Given the description of an element on the screen output the (x, y) to click on. 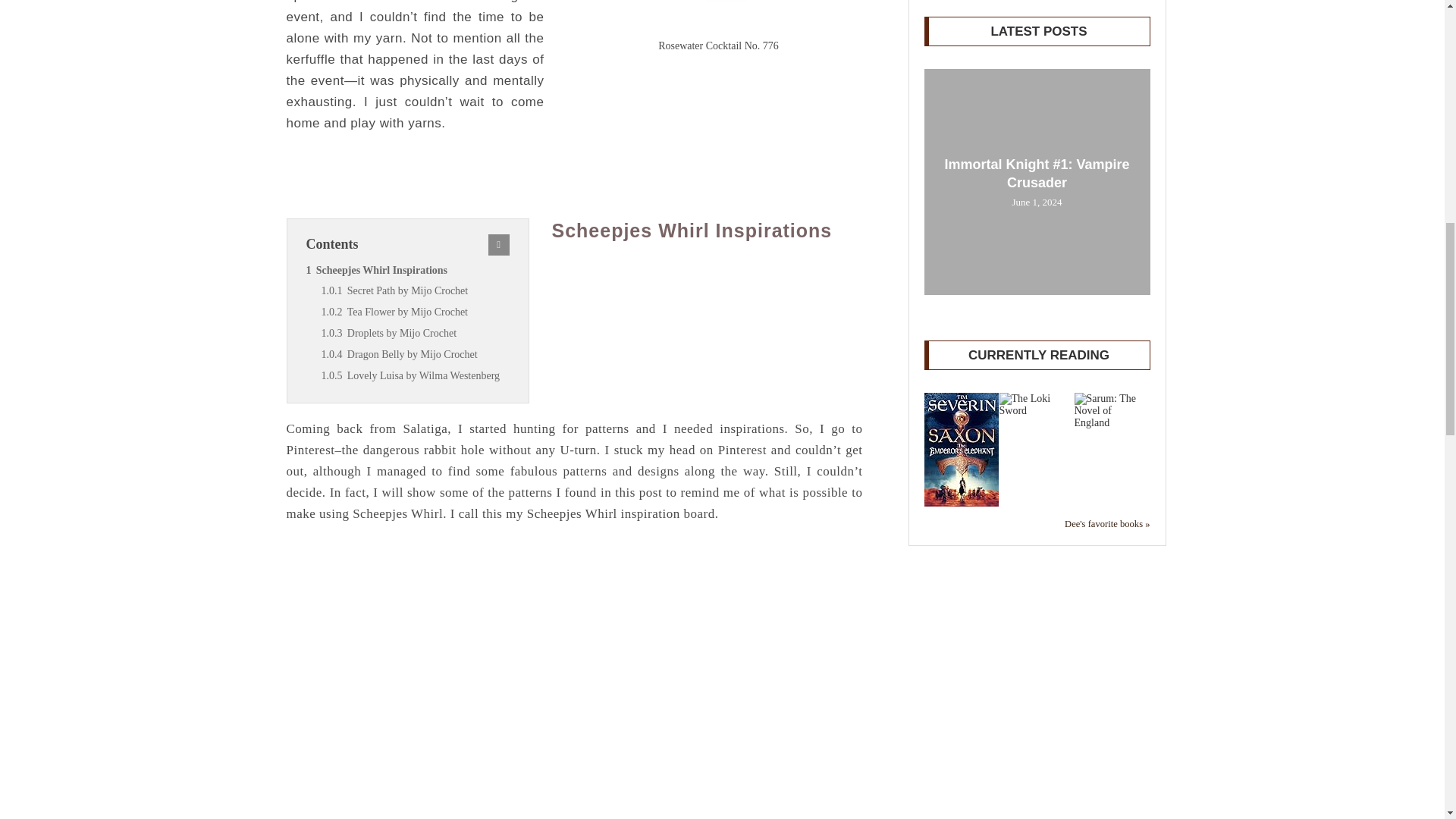
Secret Path by Mijo Crochet (415, 291)
Dragon Belly by Mijo Crochet (415, 354)
Scheepjes Whirl Inspirations (407, 270)
Secret Path by Mijo Crochet (415, 291)
Droplets by Mijo Crochet (415, 333)
Tea Flower by Mijo Crochet (415, 312)
Scheepjes Whirl Inspirations (407, 270)
Tea Flower by Mijo Crochet (415, 312)
Droplets by Mijo Crochet (415, 333)
Lovely Luisa by Wilma Westenberg (415, 375)
